Given the description of an element on the screen output the (x, y) to click on. 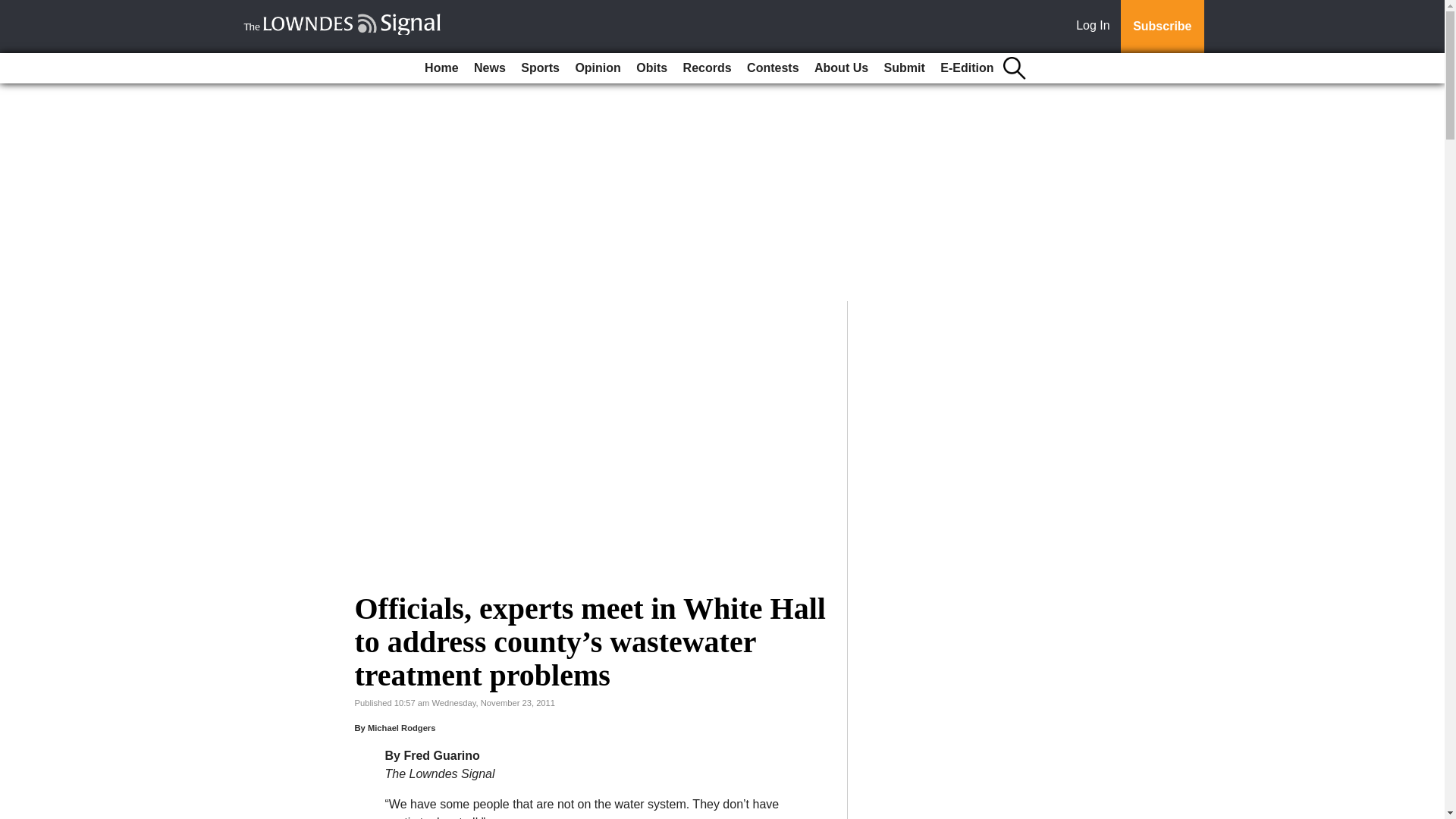
About Us (841, 68)
Opinion (597, 68)
Submit (904, 68)
Michael Rodgers (401, 727)
News (489, 68)
Contests (773, 68)
Sports (540, 68)
Log In (1095, 26)
Obits (651, 68)
E-Edition (966, 68)
